Given the description of an element on the screen output the (x, y) to click on. 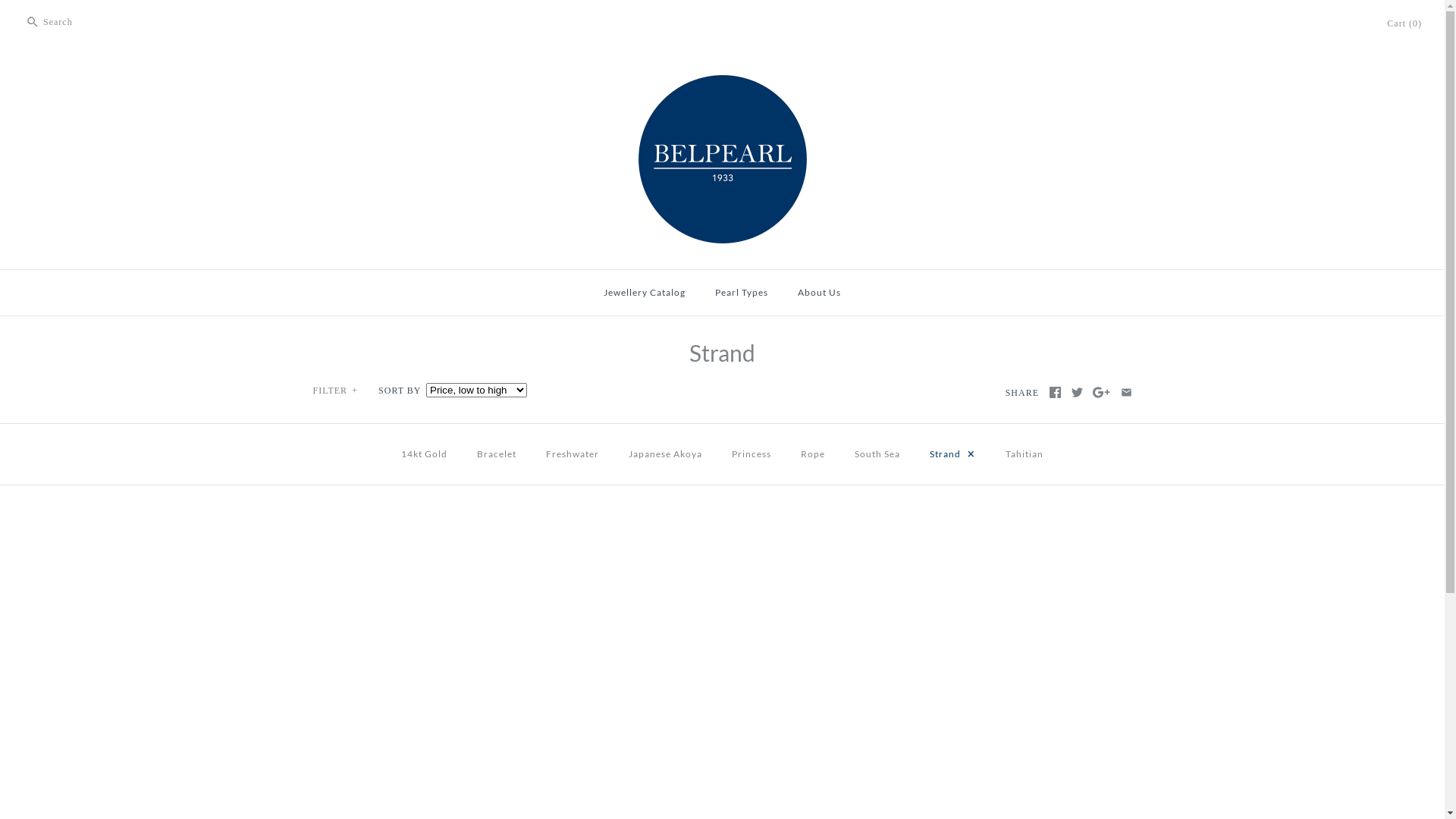
Jewellery Catalog Element type: text (644, 292)
Email Element type: text (1126, 392)
Freshwater Element type: text (572, 454)
GooglePlus Element type: text (1101, 392)
Cart (0) Element type: text (1403, 23)
Princess Element type: text (751, 454)
FILTER + Element type: text (335, 390)
South Sea Element type: text (876, 454)
Rope Element type: text (812, 454)
14kt Gold Element type: text (424, 454)
Japanese Akoya Element type: text (665, 454)
Belpearl 1933 Element type: hover (722, 73)
Twitter Element type: text (1076, 392)
Facebook Element type: text (1054, 392)
Bracelet Element type: text (496, 454)
Pearl Types Element type: text (741, 292)
Tahitian Element type: text (1024, 454)
About Us Element type: text (819, 292)
